Given the description of an element on the screen output the (x, y) to click on. 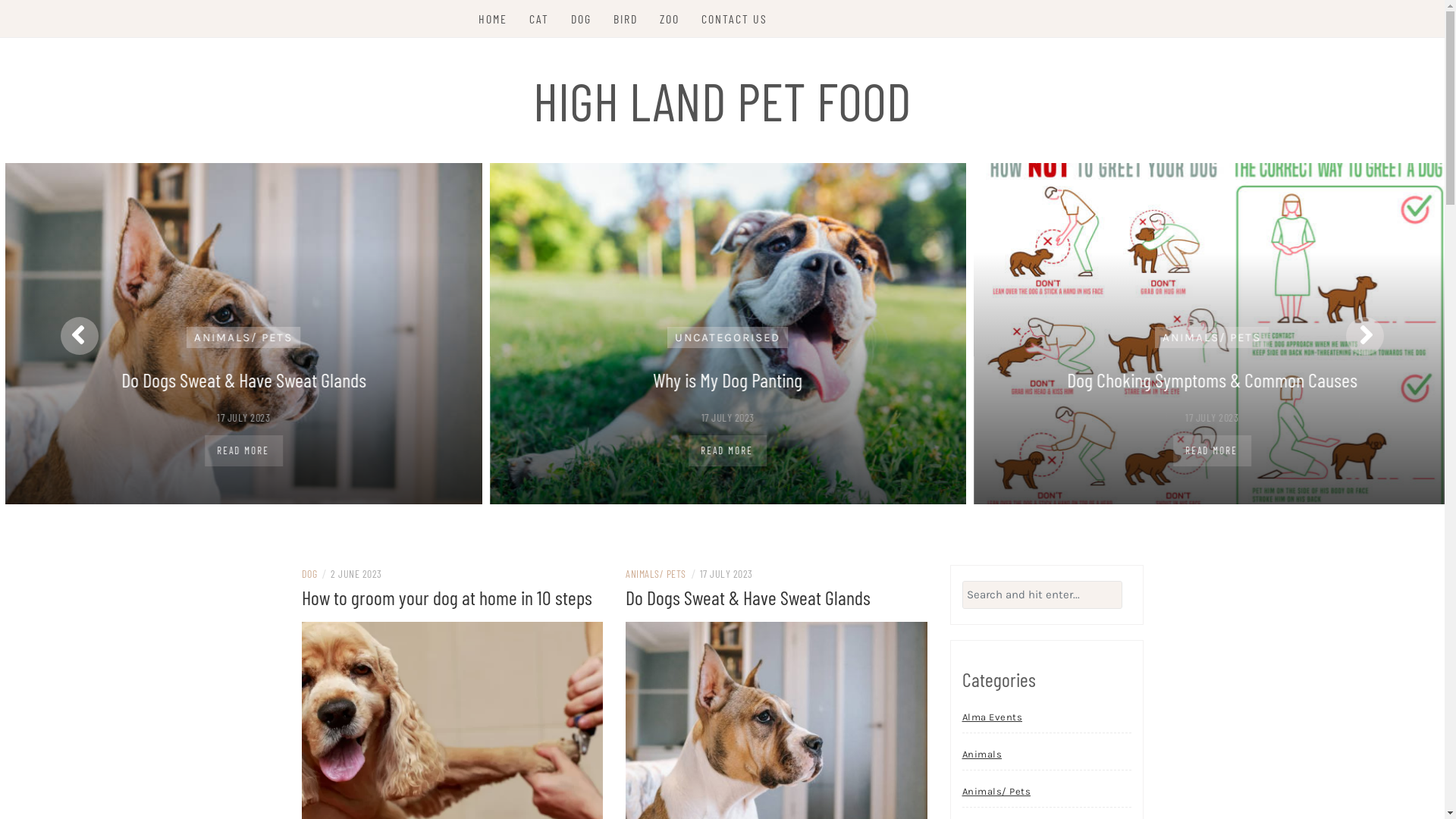
CONTACT US Element type: text (734, 18)
HOME Element type: text (492, 18)
DOG Element type: text (220, 337)
Do Dogs Sweat & Have Sweat Glands Element type: hover (776, 727)
How to groom your dog at home in 10 steps Element type: text (217, 379)
HIGH LAND PET FOOD Element type: text (722, 99)
Animals/ Pets Element type: text (995, 791)
ANIMALS/ PETS Element type: text (695, 337)
Why is My Dog Panting Element type: text (1168, 379)
DOG Element type: text (581, 18)
Animals Element type: text (981, 753)
Do Dogs Sweat & Have Sweat Glands Element type: text (691, 379)
READ MORE Element type: text (1165, 450)
READ MORE Element type: text (688, 450)
How to groom your dog at home in 10 steps Element type: hover (452, 727)
ZOO Element type: text (669, 18)
BIRD Element type: text (625, 18)
UNCATEGORISED Element type: text (1172, 337)
READ MORE Element type: text (214, 450)
How to groom your dog at home in 10 steps Element type: text (446, 596)
ANIMALS/ PETS Element type: text (655, 573)
DOG Element type: text (309, 573)
CAT Element type: text (539, 18)
Alma Events Element type: text (991, 717)
Do Dogs Sweat & Have Sweat Glands Element type: text (747, 596)
